Given the description of an element on the screen output the (x, y) to click on. 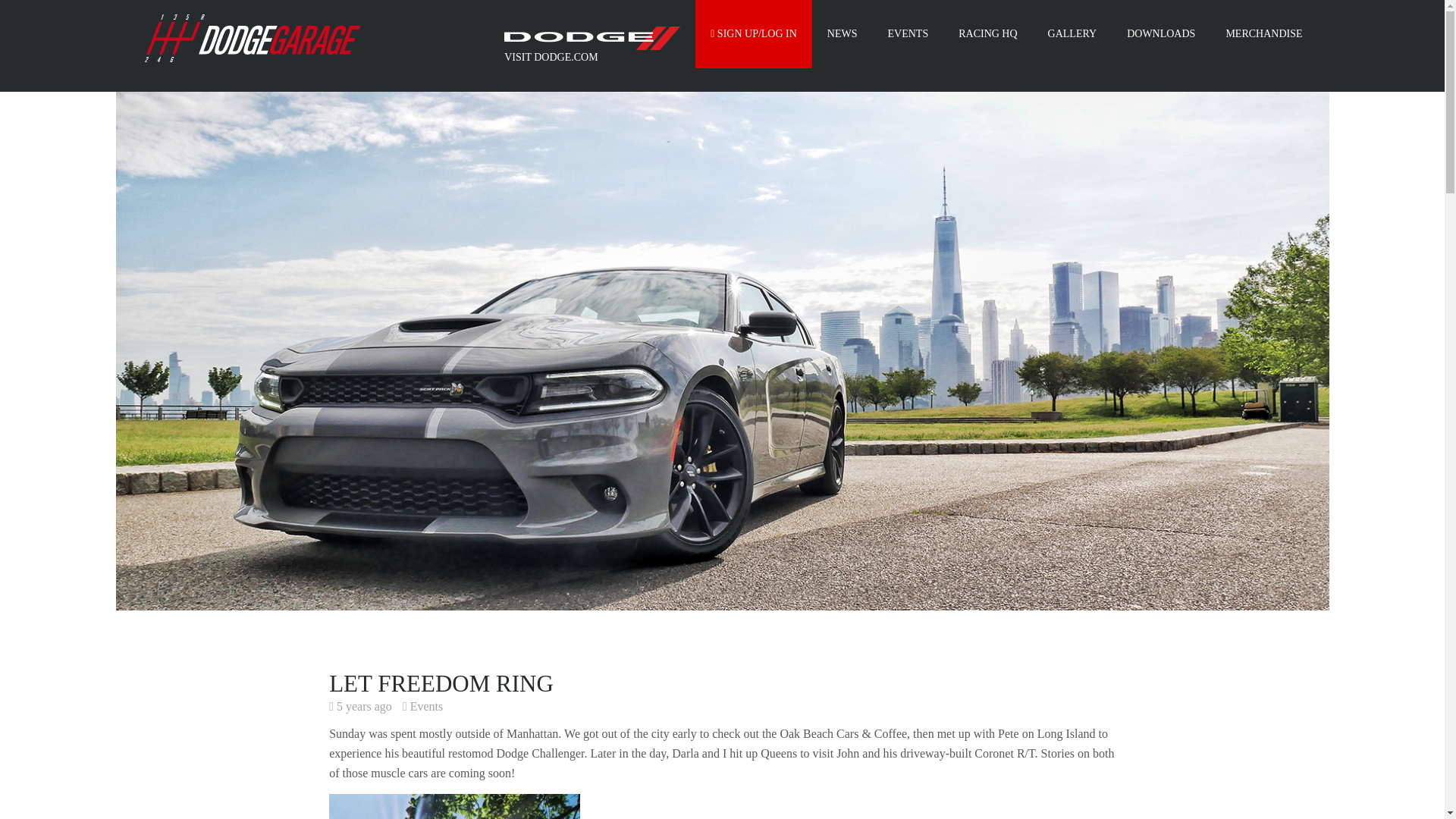
NEWS (842, 33)
GALLERY (1072, 33)
VISIT DODGE.COM (592, 45)
EVENTS (907, 33)
DOWNLOADS (1160, 33)
MERCHANDISE (1263, 33)
RACING HQ (987, 33)
